Given the description of an element on the screen output the (x, y) to click on. 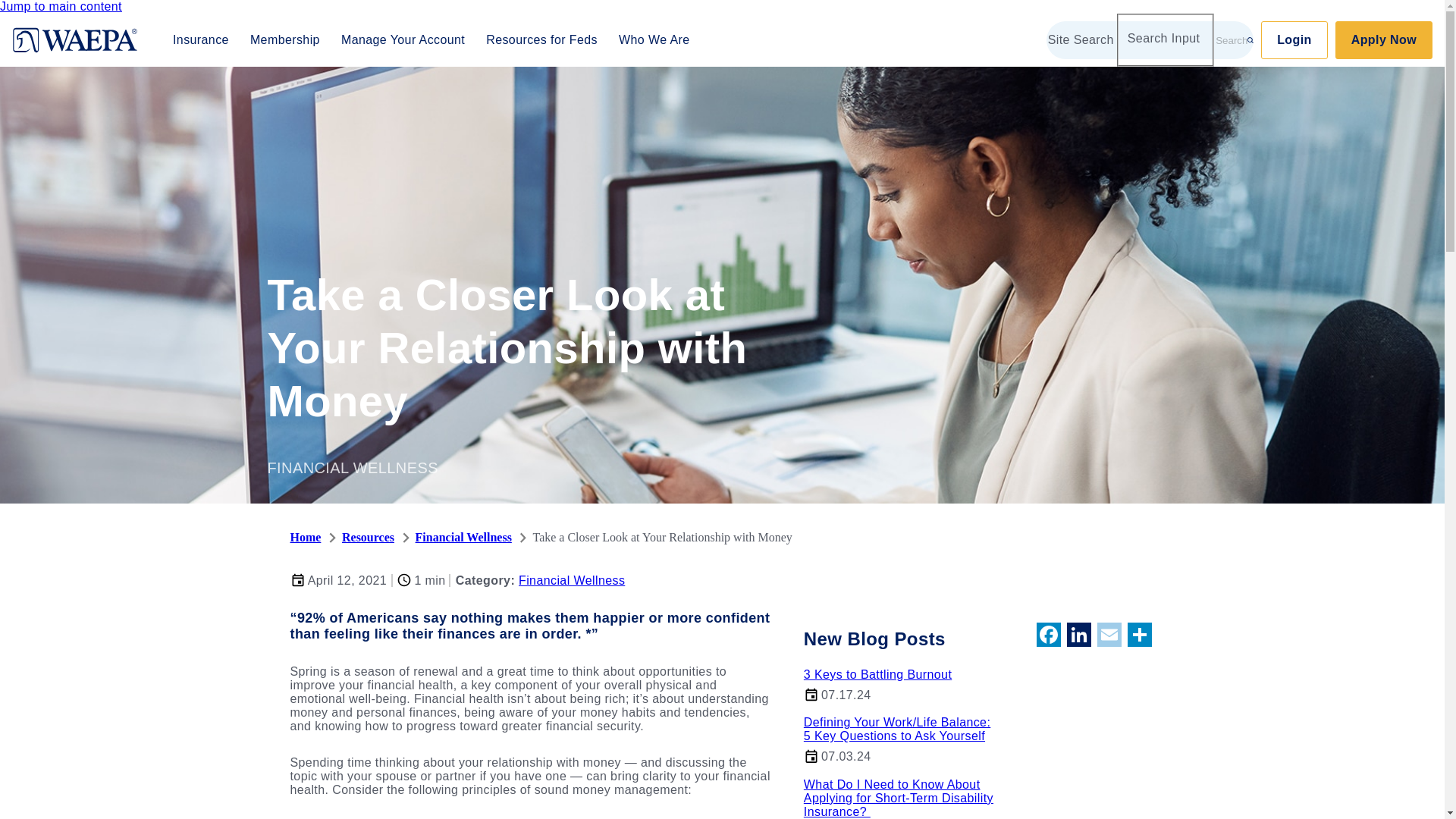
Login (1293, 39)
Jump to main content (61, 6)
Apply Now (1383, 39)
Who We Are (654, 39)
Resources (368, 536)
Manage Your Account (402, 39)
Financial Wellness (463, 536)
Email (1108, 636)
Insurance (200, 39)
Search (1234, 39)
LinkedIn (1077, 636)
Home (304, 536)
Facebook (1047, 636)
Membership (285, 39)
Resources for Feds (541, 39)
